Given the description of an element on the screen output the (x, y) to click on. 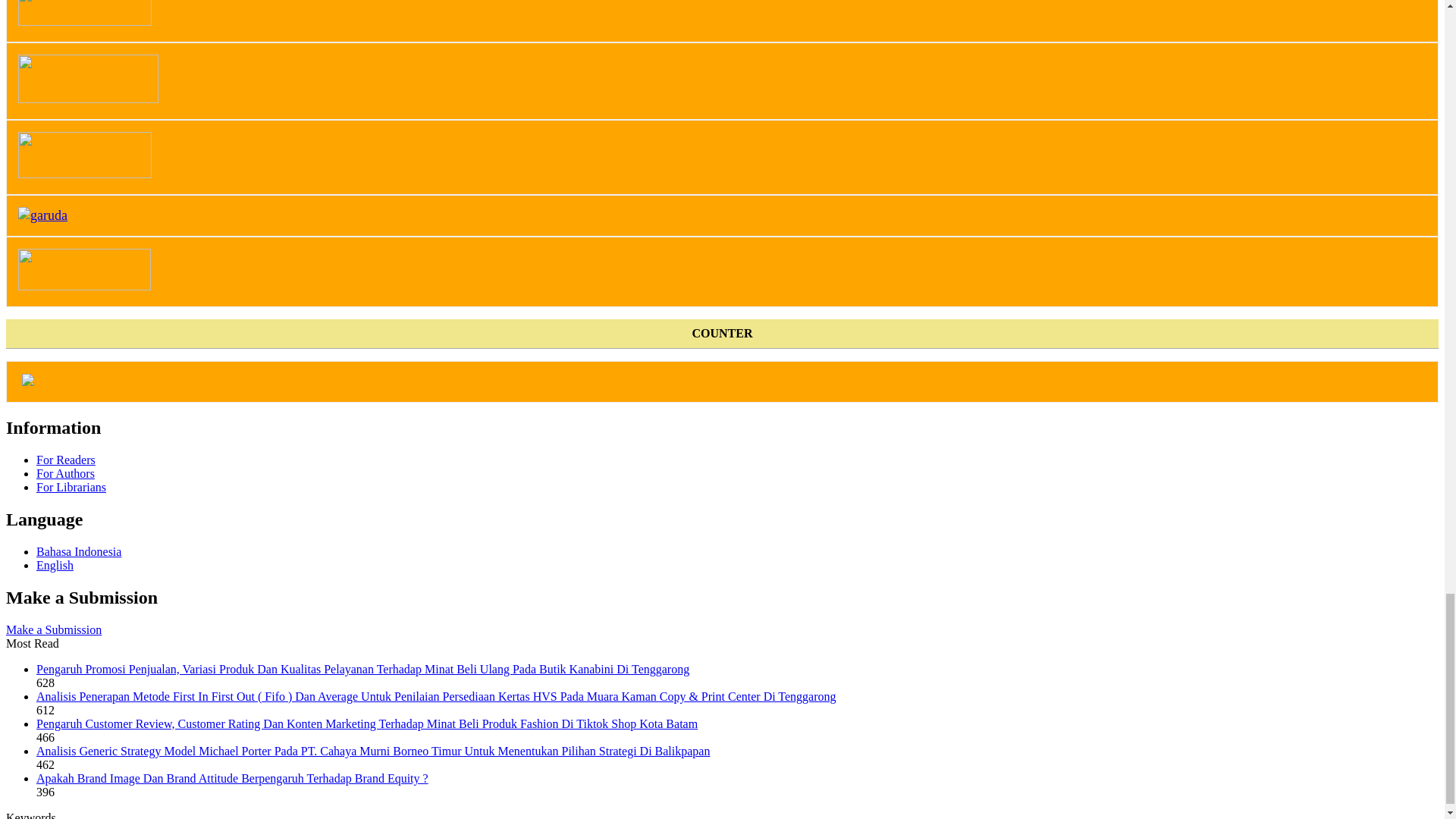
garuda (41, 215)
issn (84, 173)
